Given the description of an element on the screen output the (x, y) to click on. 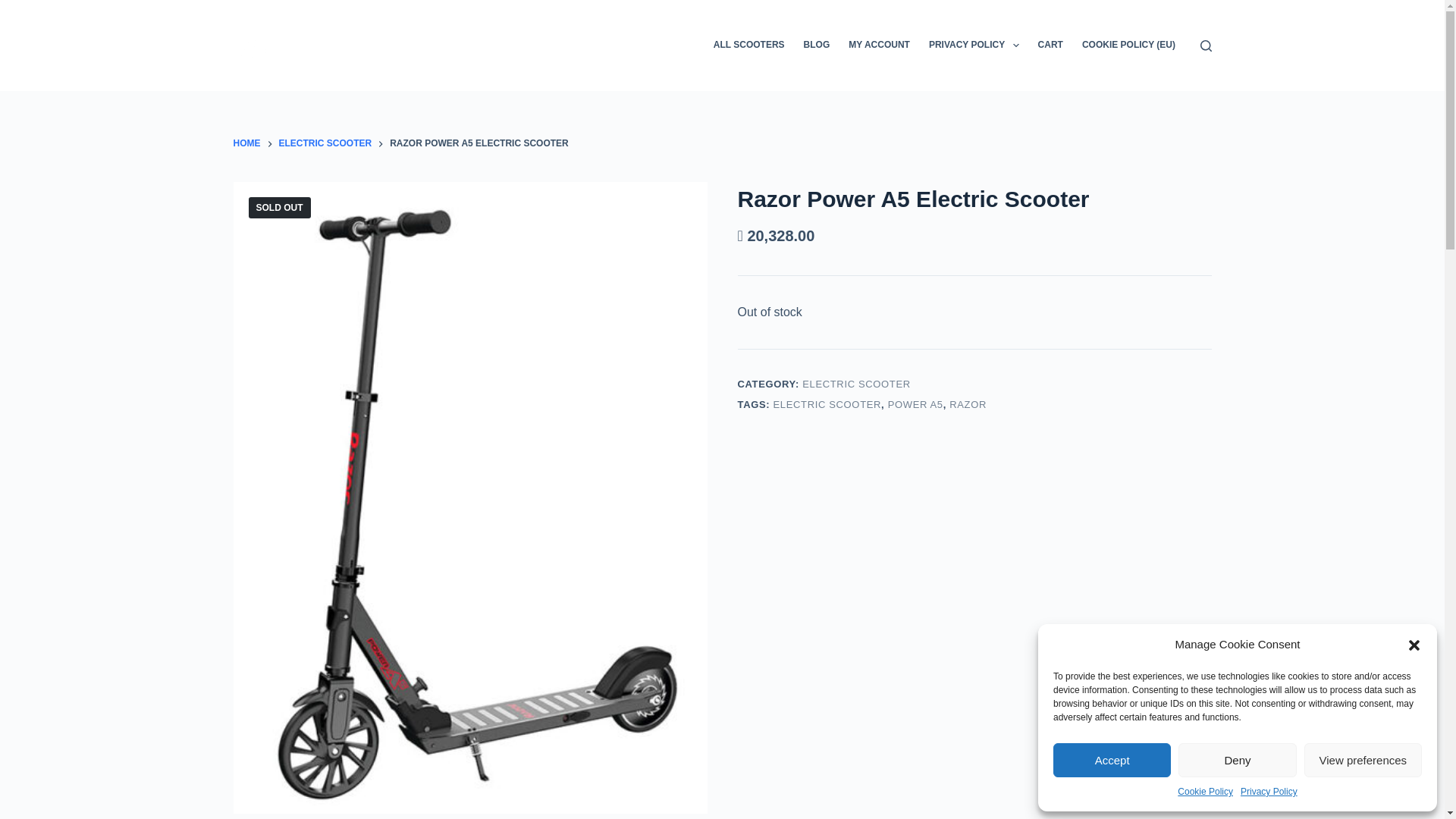
View preferences (1363, 759)
Accept (1111, 759)
ALL SCOOTERS (748, 45)
Deny (1236, 759)
HOME (246, 143)
ELECTRIC SCOOTER (856, 383)
Cookie Policy (1205, 792)
Privacy Policy (1268, 792)
ELECTRIC SCOOTER (827, 404)
ELECTRIC SCOOTER (325, 143)
